Given the description of an element on the screen output the (x, y) to click on. 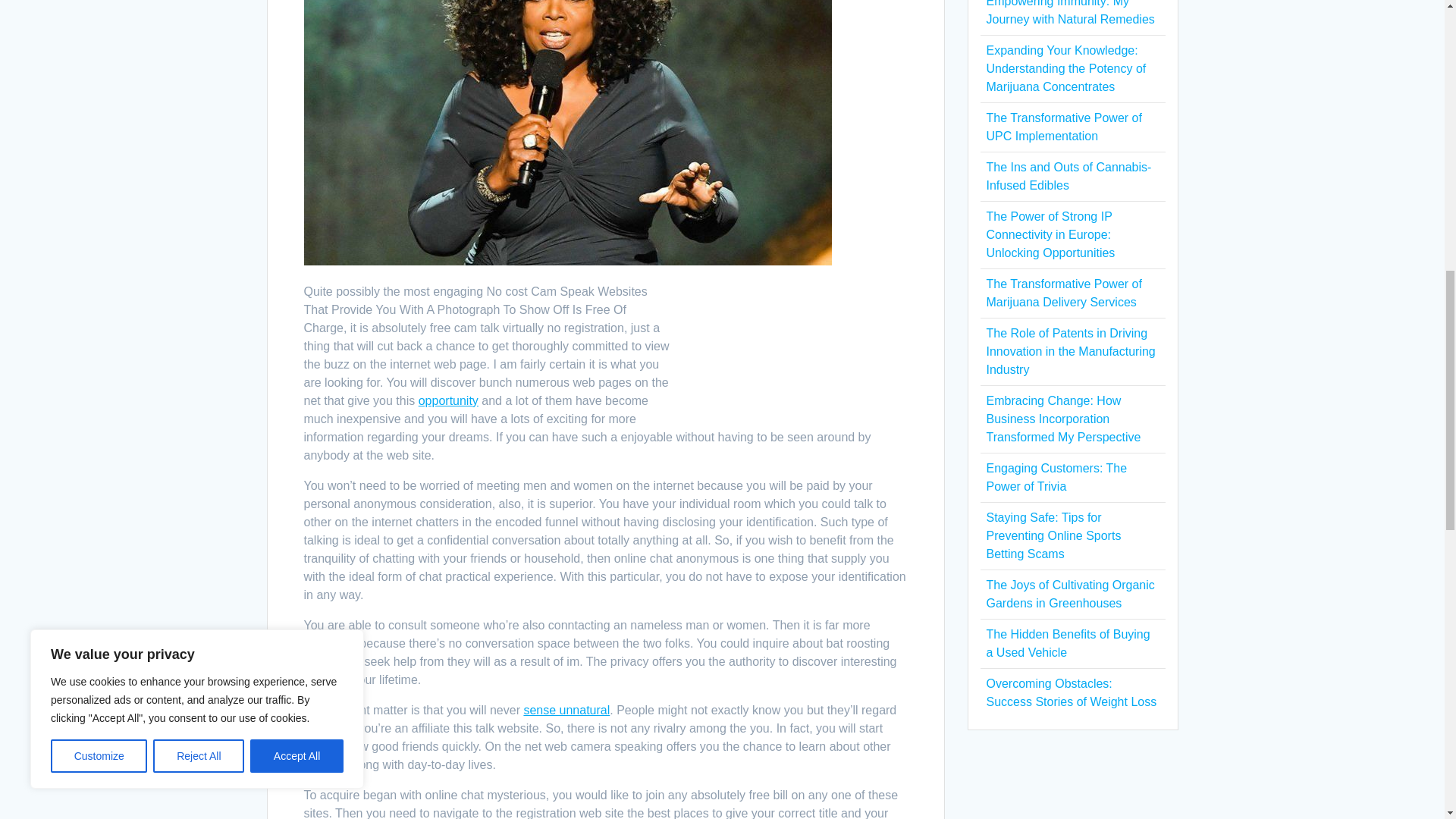
sense unnatural (566, 709)
The Ins and Outs of Cannabis-Infused Edibles (1068, 175)
The Transformative Power of UPC Implementation (1063, 126)
opportunity (449, 400)
Empowering Immunity: My Journey with Natural Remedies (1069, 12)
